Given the description of an element on the screen output the (x, y) to click on. 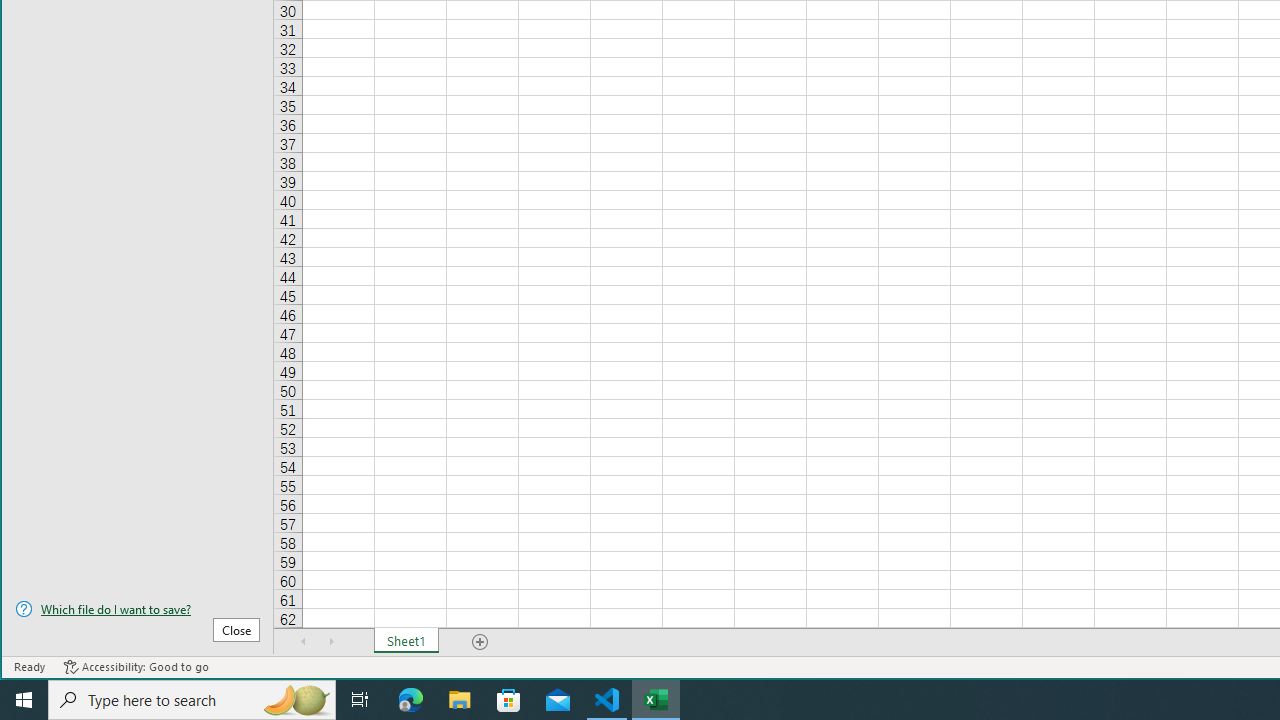
Excel - 1 running window (656, 699)
